Given the description of an element on the screen output the (x, y) to click on. 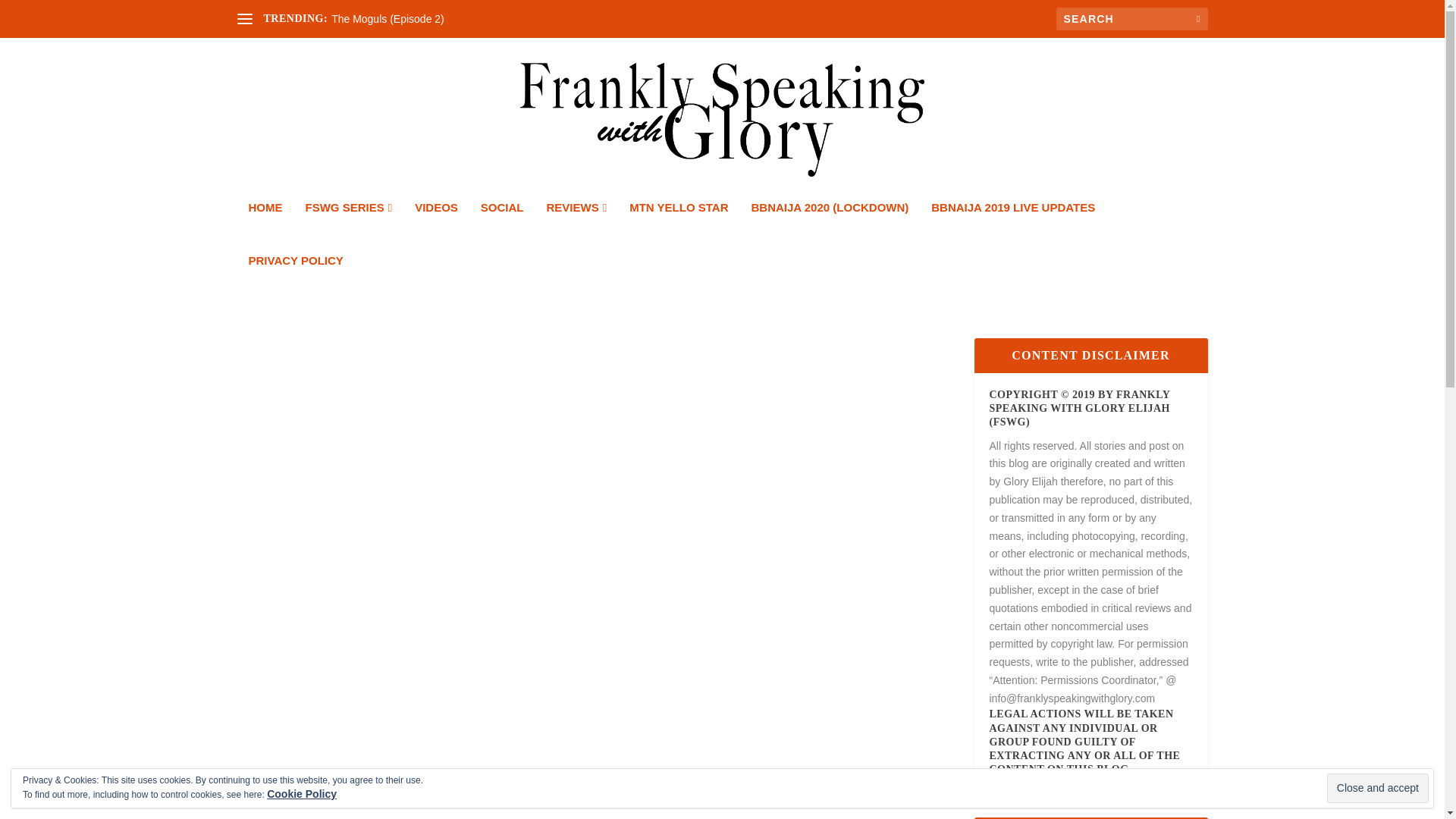
FSWG SERIES (347, 227)
Search for: (1131, 18)
BBNAIJA 2019 LIVE UPDATES (1012, 227)
REVIEWS (577, 227)
MTN YELLO STAR (678, 227)
PRIVACY POLICY (295, 280)
Close and accept (1377, 788)
